Given the description of an element on the screen output the (x, y) to click on. 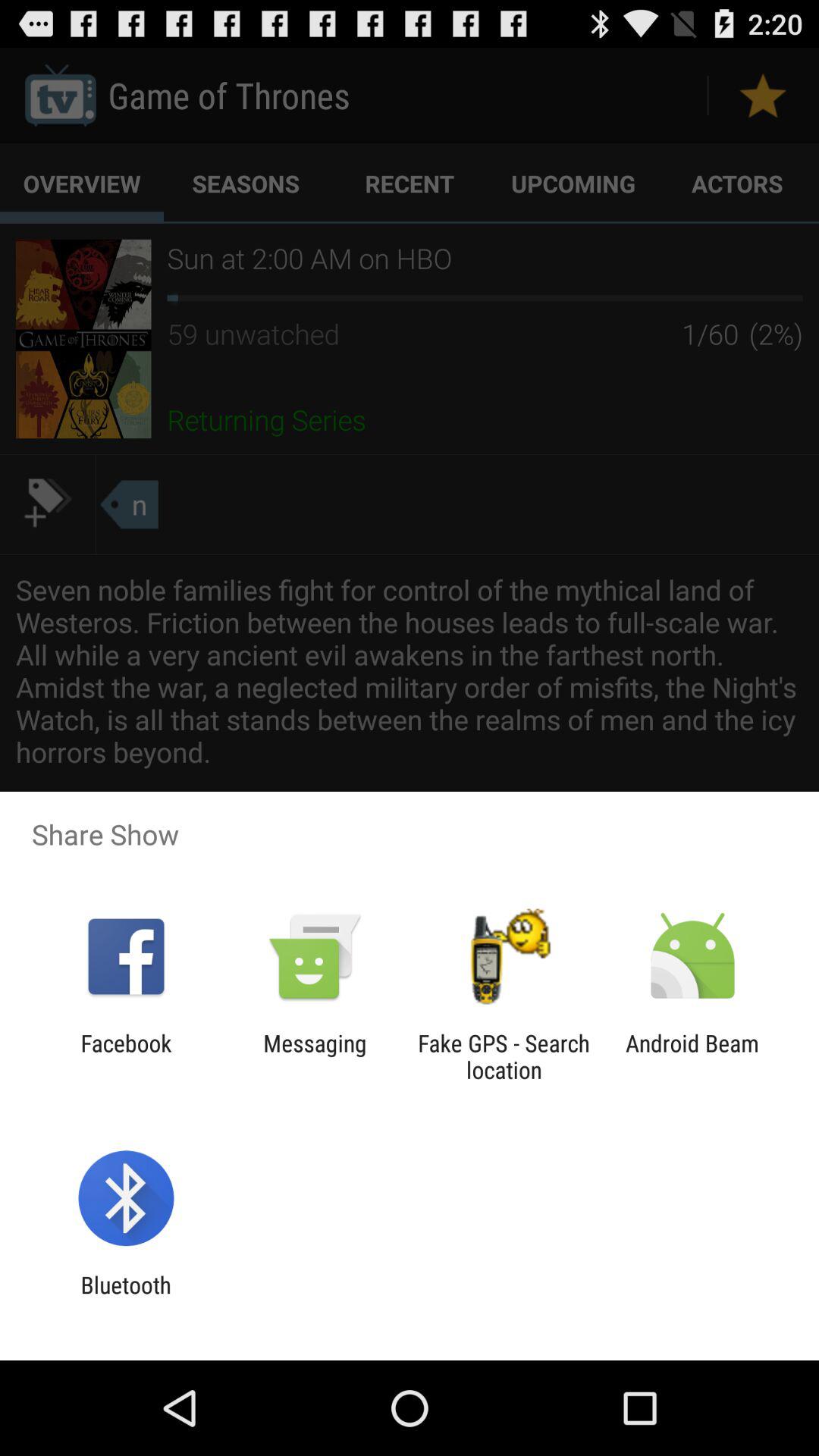
turn off the icon to the right of messaging icon (503, 1056)
